Given the description of an element on the screen output the (x, y) to click on. 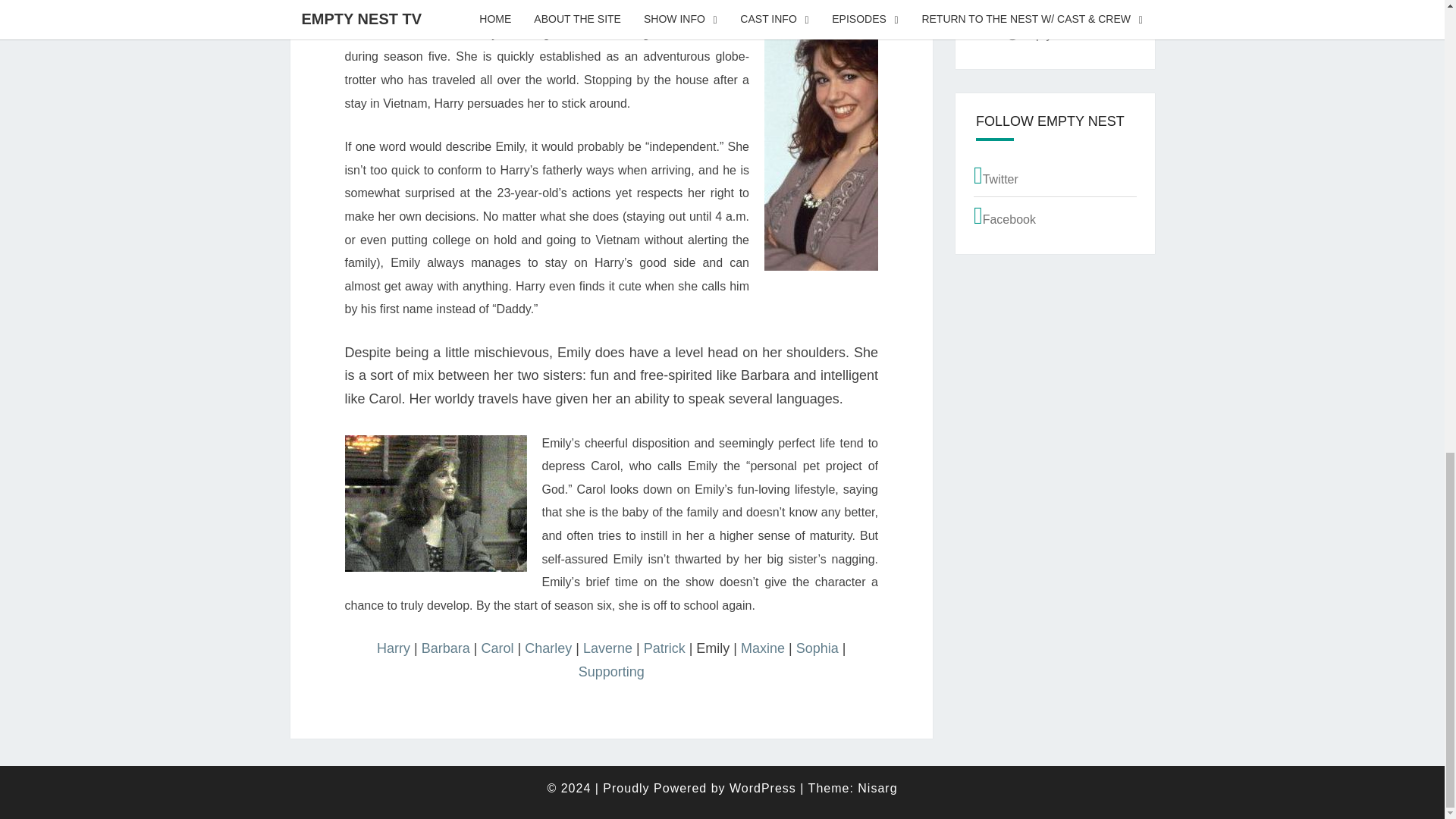
Barbara (446, 648)
Visit Empty Nest TV on Twitter (1055, 175)
Visit Empty Nest TV on Facebook (1055, 216)
Carol (496, 648)
Harry (393, 648)
